Given the description of an element on the screen output the (x, y) to click on. 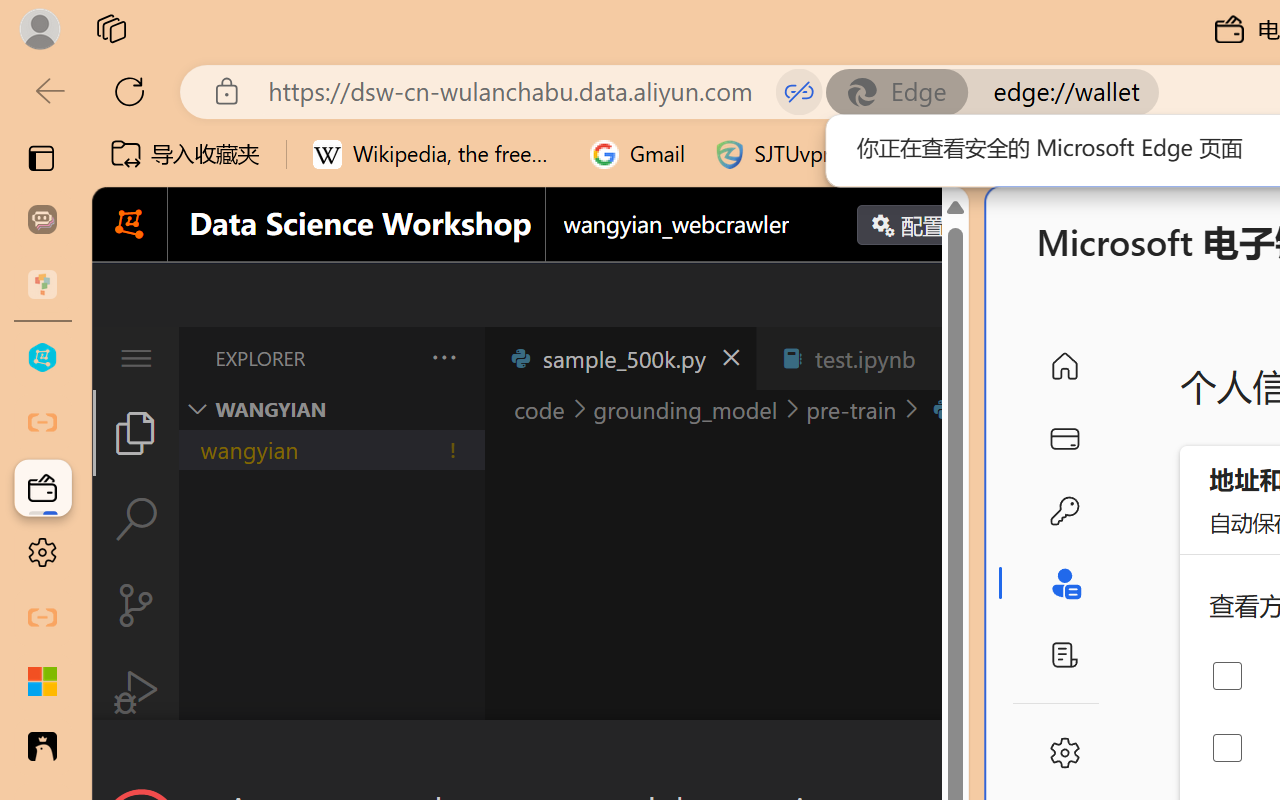
Class: menubar compact overflow-menu-only (135, 358)
Close (Ctrl+F4) (946, 358)
Gmail (637, 154)
Wikipedia, the free encyclopedia (437, 154)
Close Dialog (959, 756)
wangyian_dsw - DSW (42, 357)
Source Control (Ctrl+Shift+G) (135, 604)
